Given the description of an element on the screen output the (x, y) to click on. 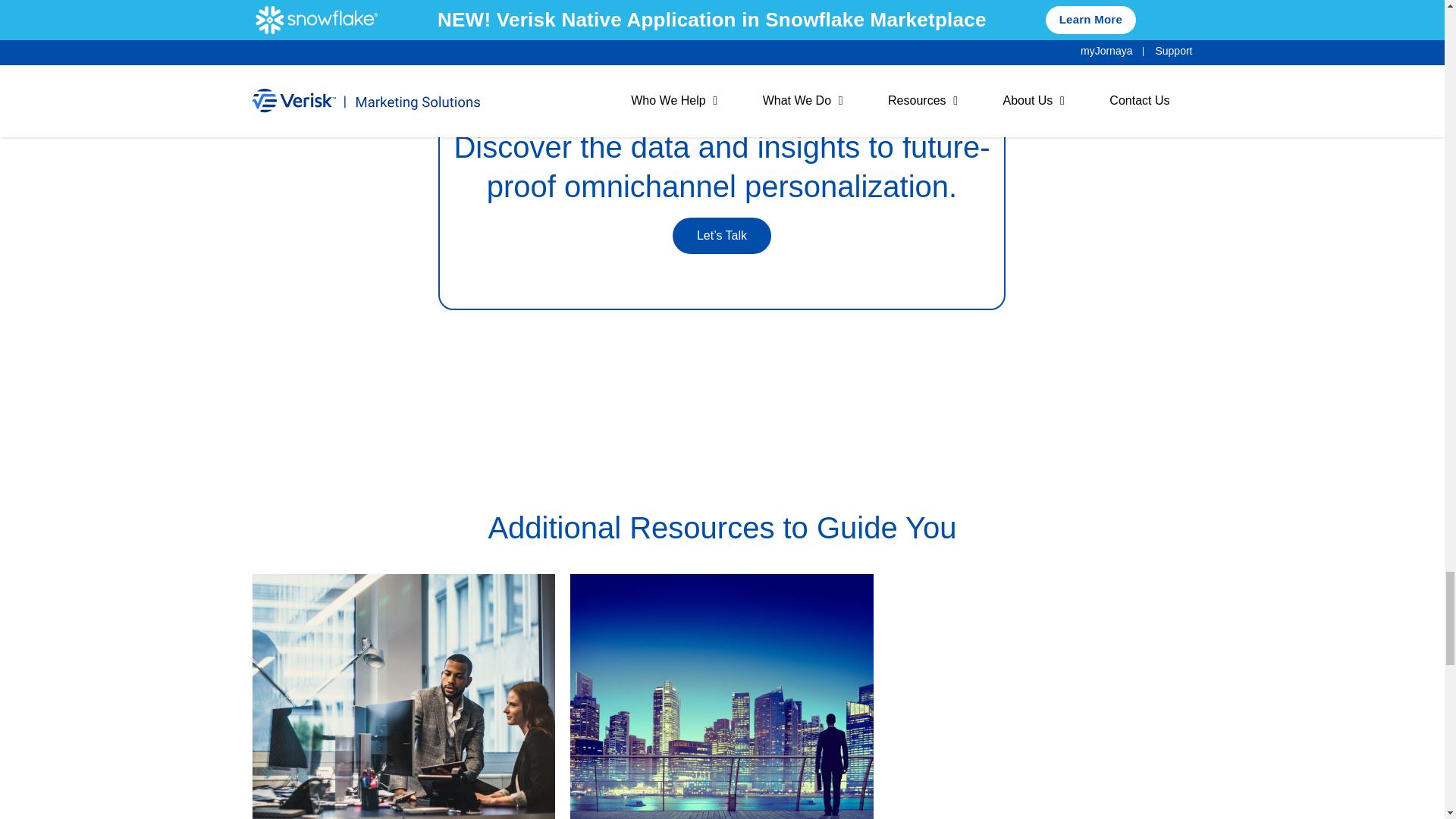
Identify Shoppers Earlier in the Funnel with InMarket Scores (1040, 696)
